Given the description of an element on the screen output the (x, y) to click on. 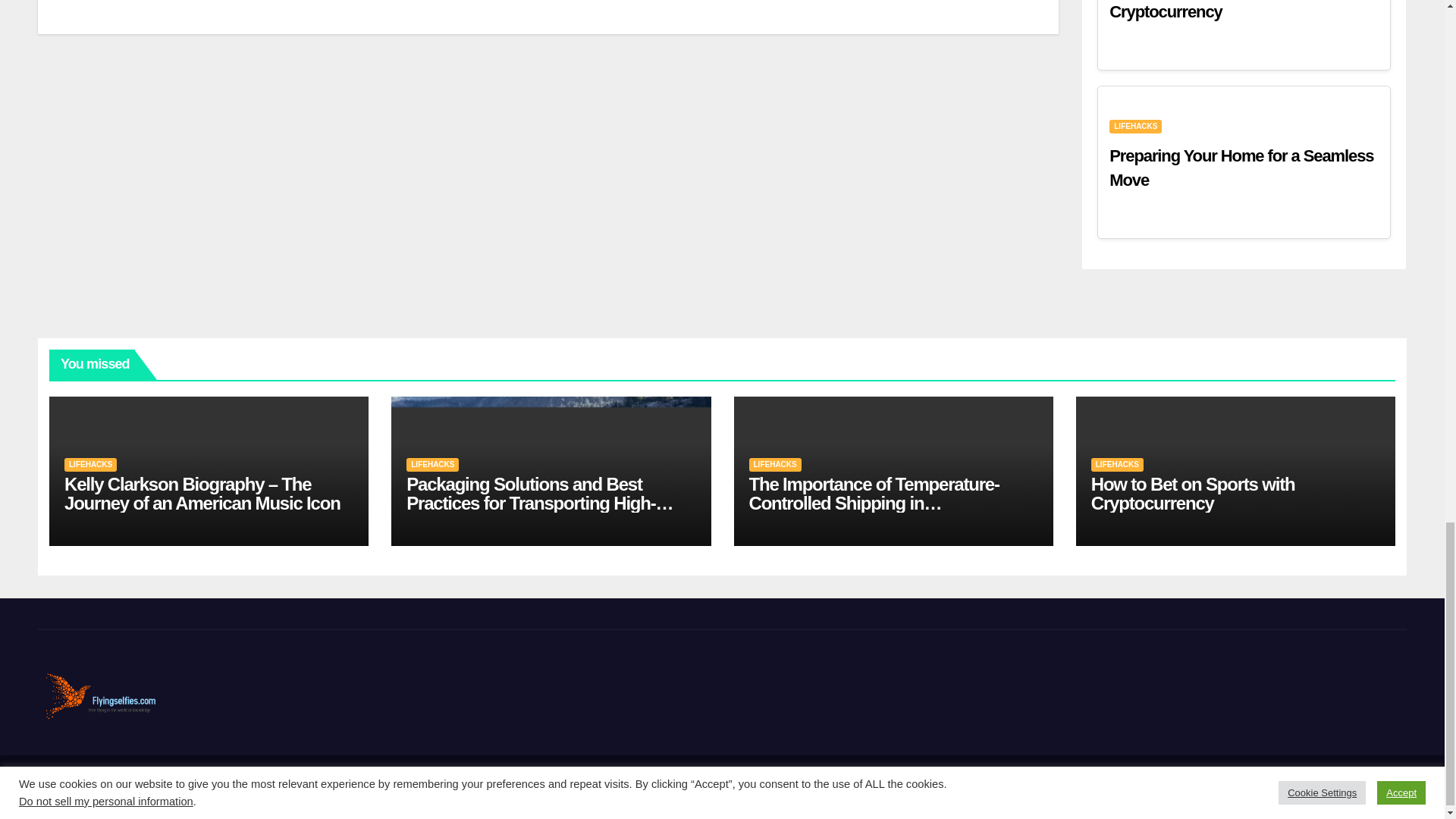
Feedback (1228, 786)
Permalink to: How to Bet on Sports with Cryptocurrency (1192, 493)
Privacy Policy (1296, 786)
Terms of Use (1371, 786)
